Given the description of an element on the screen output the (x, y) to click on. 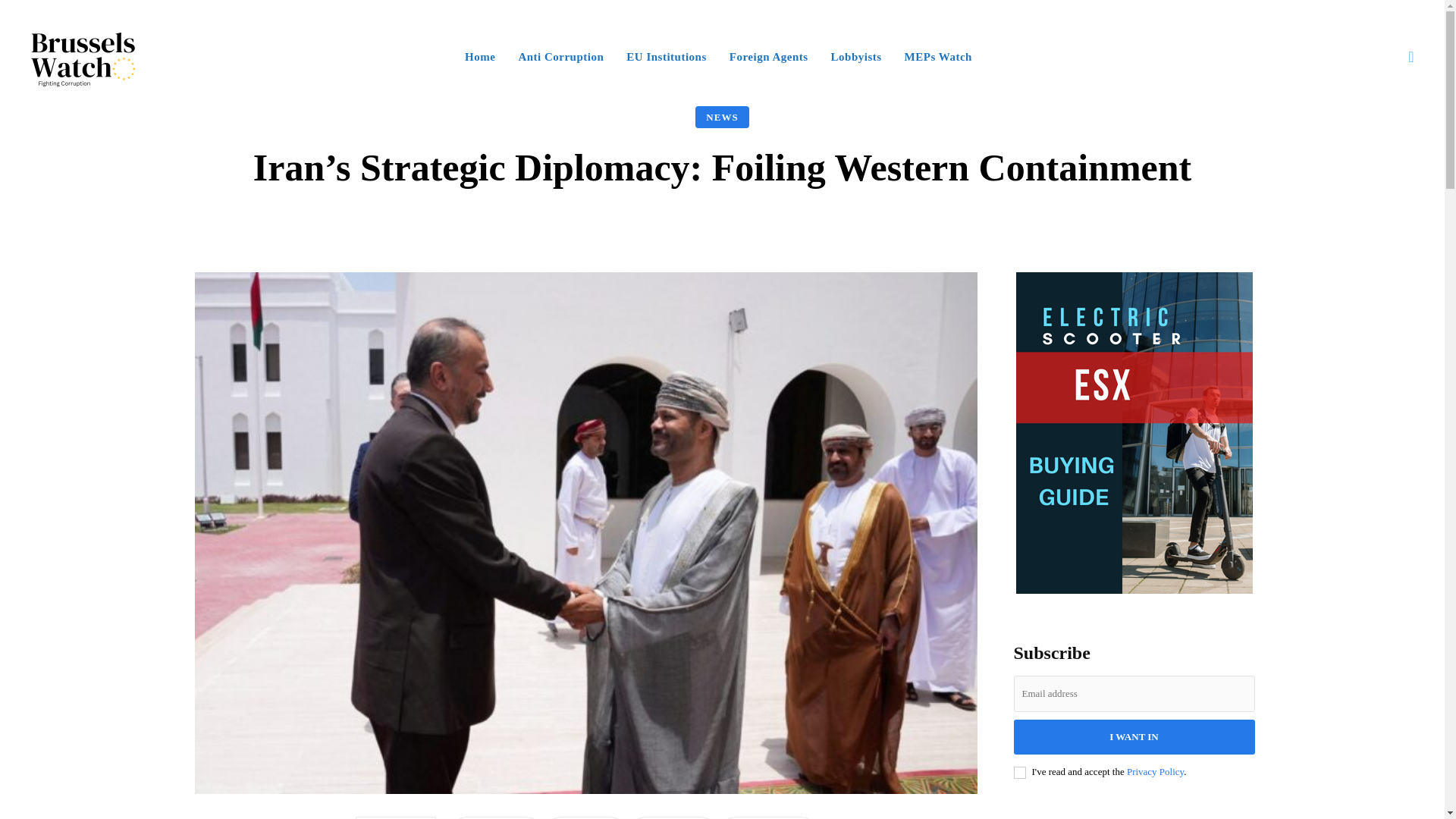
WhatsApp (767, 817)
Pinterest (673, 817)
Twitter (586, 817)
MEPs Watch (937, 56)
Facebook (496, 817)
Anti Corruption (561, 56)
EU Institutions (665, 56)
Facebook (496, 817)
NEWS (721, 116)
Pinterest (673, 817)
Foreign Agents (768, 56)
WhatsApp (767, 817)
Twitter (586, 817)
